Given the description of an element on the screen output the (x, y) to click on. 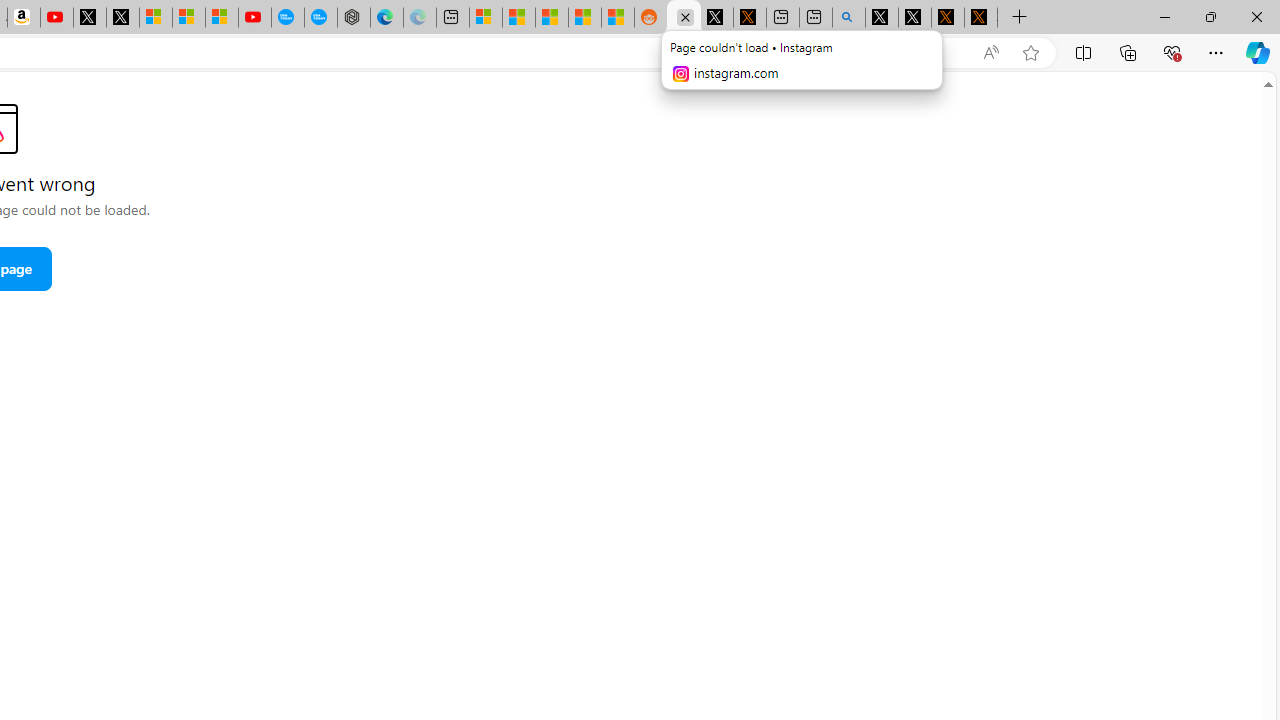
github - Search (849, 17)
Shanghai, China hourly forecast | Microsoft Weather (552, 17)
X Privacy Policy (981, 17)
Day 1: Arriving in Yemen (surreal to be here) - YouTube (56, 17)
Profile / X (882, 17)
help.x.com | 524: A timeout occurred (749, 17)
